Given the description of an element on the screen output the (x, y) to click on. 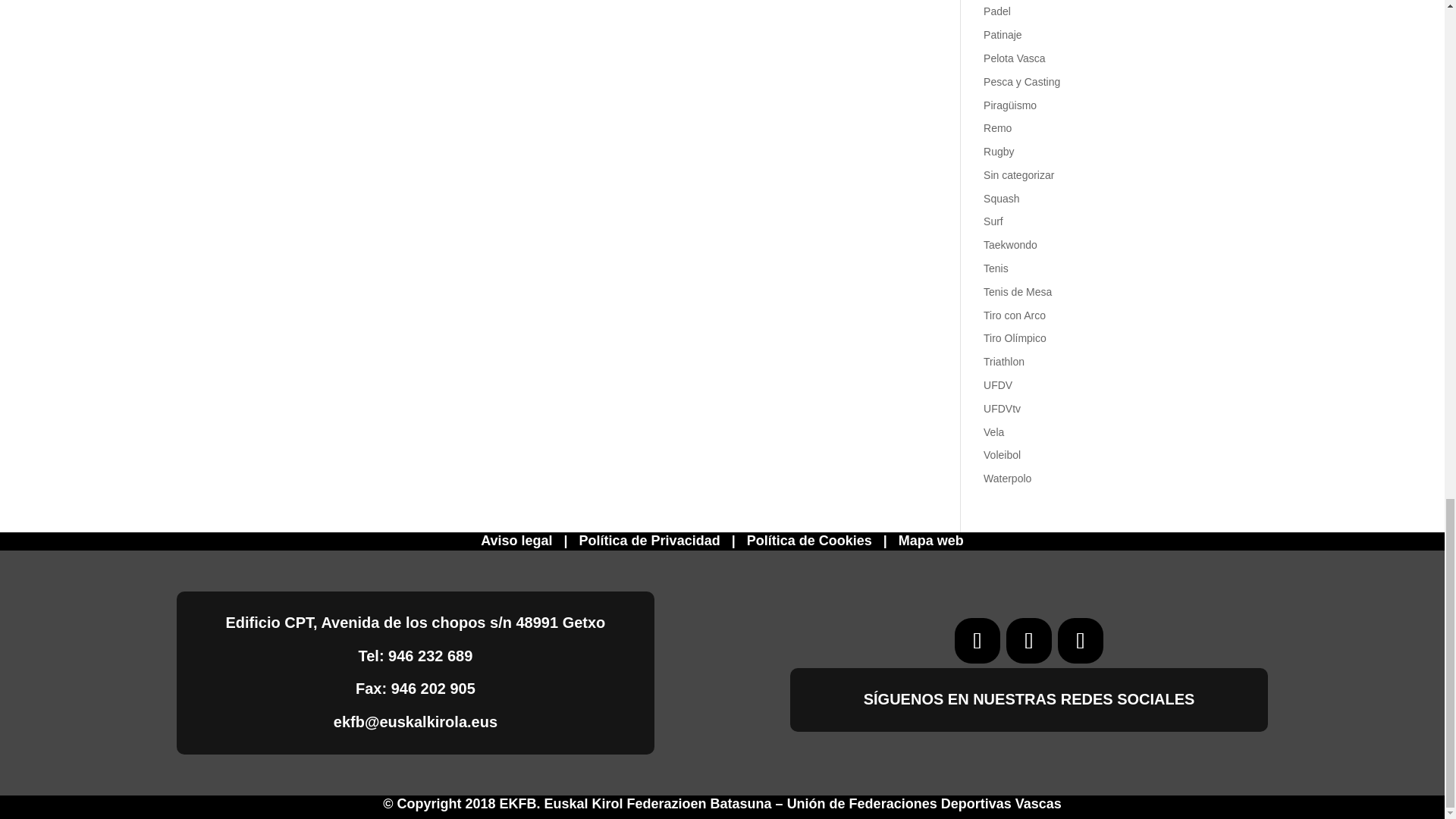
Seguir en Facebook (977, 640)
Seguir en Twitter (1028, 640)
Seguir en Instagram (1080, 640)
